Given the description of an element on the screen output the (x, y) to click on. 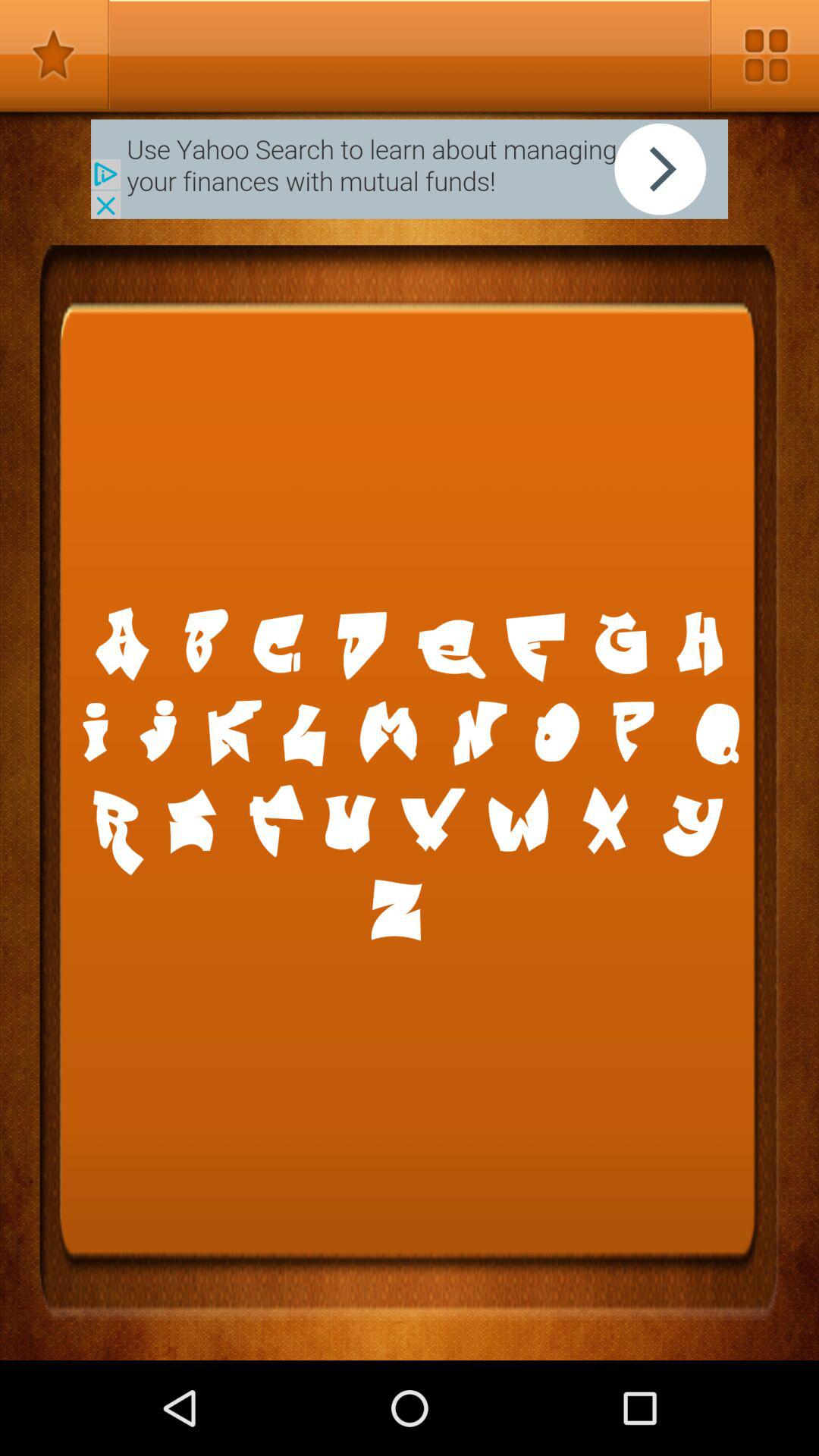
setting bar option (764, 54)
